Given the description of an element on the screen output the (x, y) to click on. 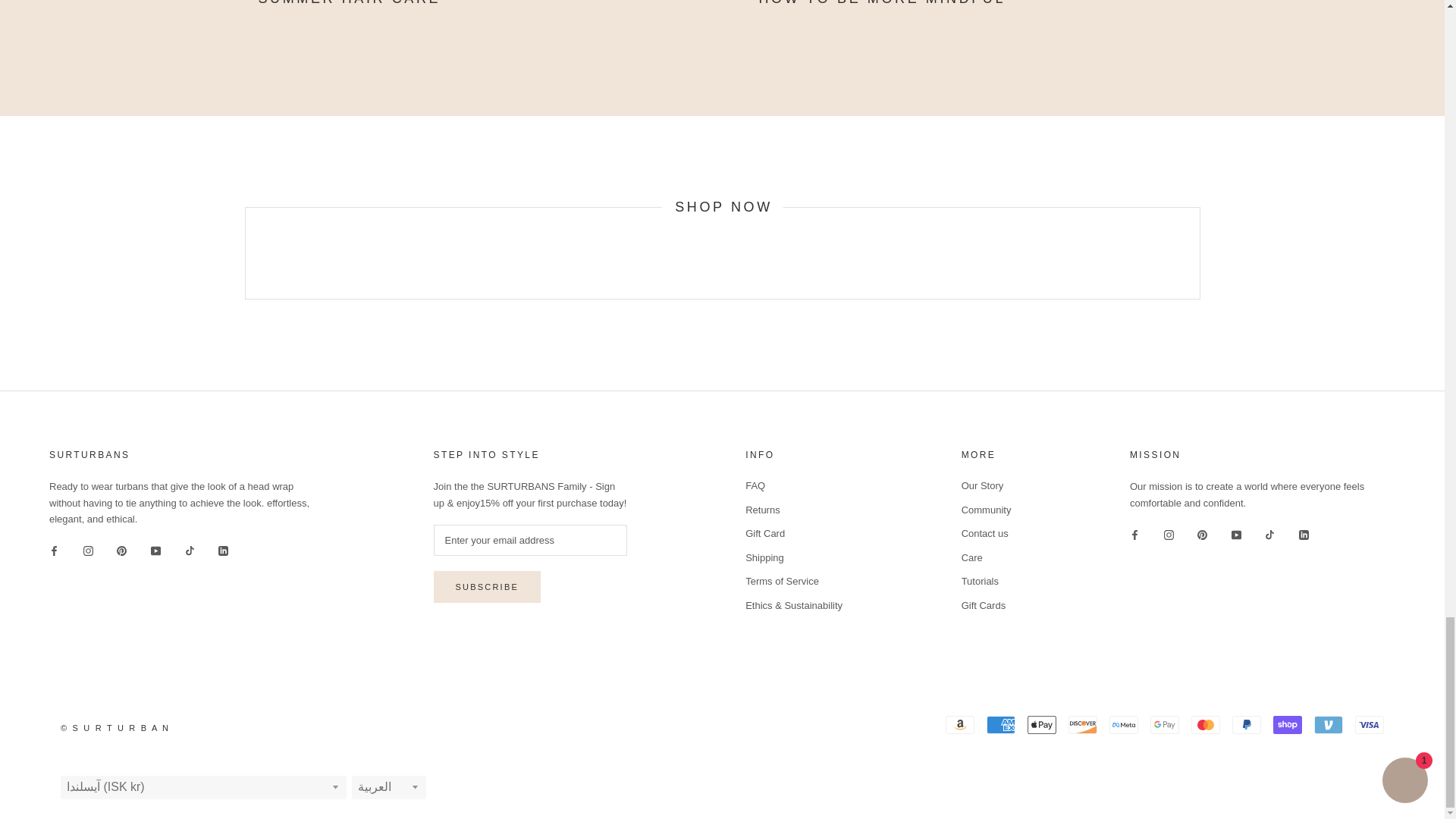
Amazon (959, 724)
American Express (1000, 724)
